Given the description of an element on the screen output the (x, y) to click on. 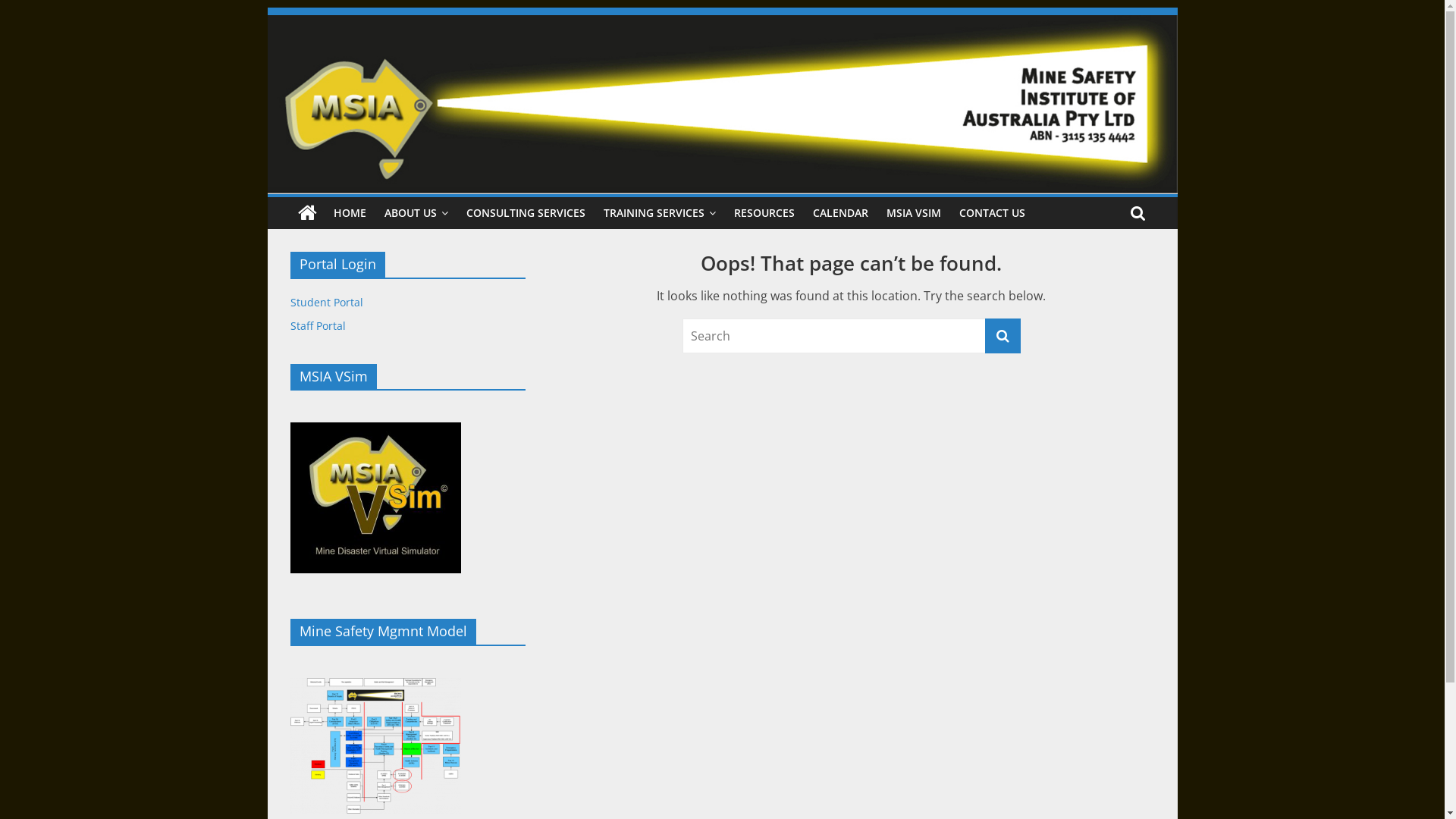
Staff Portal Element type: text (317, 325)
ABOUT US Element type: text (415, 213)
MSIA VSIM Element type: text (912, 213)
CONTACT US Element type: text (991, 213)
Skip to content Element type: text (266, 6)
CALENDAR Element type: text (840, 213)
CONSULTING SERVICES Element type: text (524, 213)
TRAINING SERVICES Element type: text (659, 213)
RESOURCES Element type: text (763, 213)
Mine Safety Institute of Australia Element type: text (361, 114)
Student Portal Element type: text (325, 301)
Mine Safety Institute of Australia Element type: hover (306, 213)
HOME Element type: text (349, 213)
Mine Safety Institute of Australia Element type: hover (721, 23)
